Given the description of an element on the screen output the (x, y) to click on. 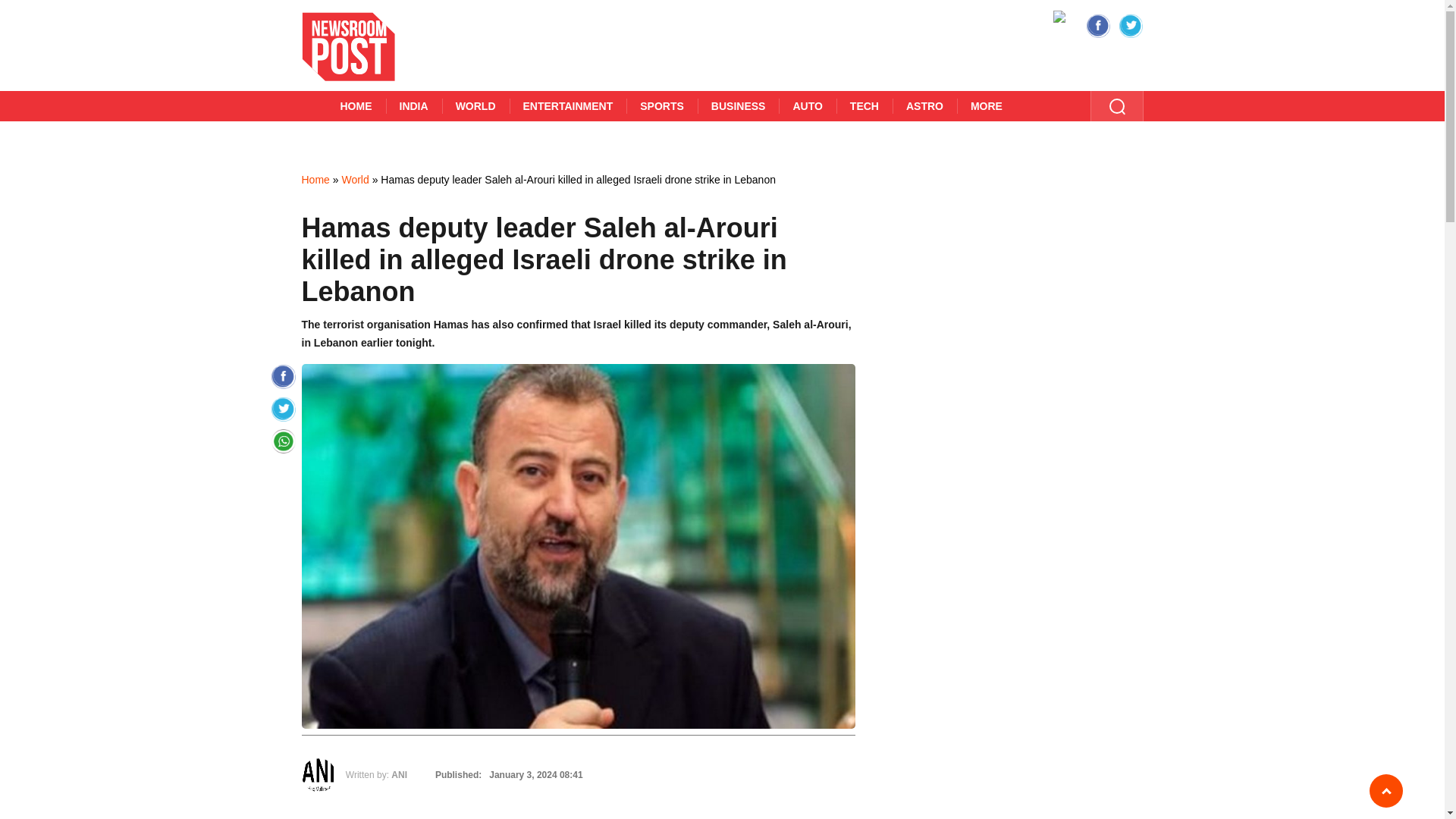
INDIA (413, 105)
ASTRO (924, 105)
WORLD (475, 105)
ANI (399, 774)
ENTERTAINMENT (568, 105)
HOME (355, 105)
Home (315, 179)
TECH (863, 105)
AUTO (806, 105)
World (354, 179)
